Given the description of an element on the screen output the (x, y) to click on. 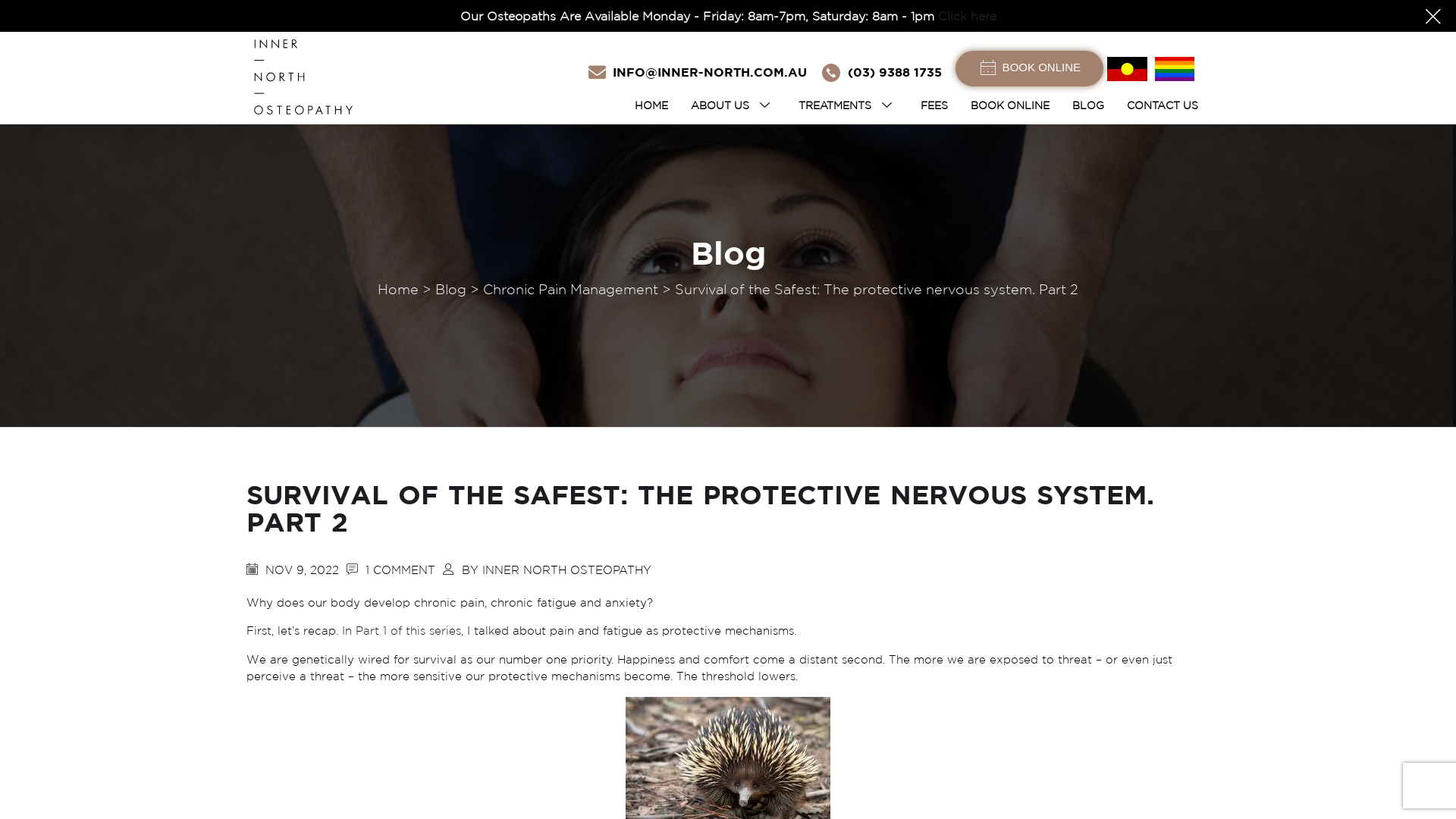
In Part 1 of this series Element type: text (401, 630)
Click here Element type: text (966, 15)
(03) 9388 1735 Element type: text (894, 71)
FEES Element type: text (934, 105)
download (2) (1) Element type: hover (1127, 68)
INFO@INNER-NORTH.COM.AU Element type: text (709, 71)
1 COMMENT Element type: text (400, 569)
ABOUT US Element type: text (733, 105)
Chronic Pain Management Element type: text (570, 289)
CONTACT US Element type: text (1162, 105)
HOME Element type: text (651, 105)
BLOG Element type: text (1087, 105)
Blog Element type: text (450, 289)
Home Element type: text (397, 289)
BOOK ONLINE Element type: text (1009, 105)
download (4) Element type: hover (1174, 68)
BOOK ONLINE Element type: text (1029, 68)
TREATMENTS Element type: text (848, 105)
